Given the description of an element on the screen output the (x, y) to click on. 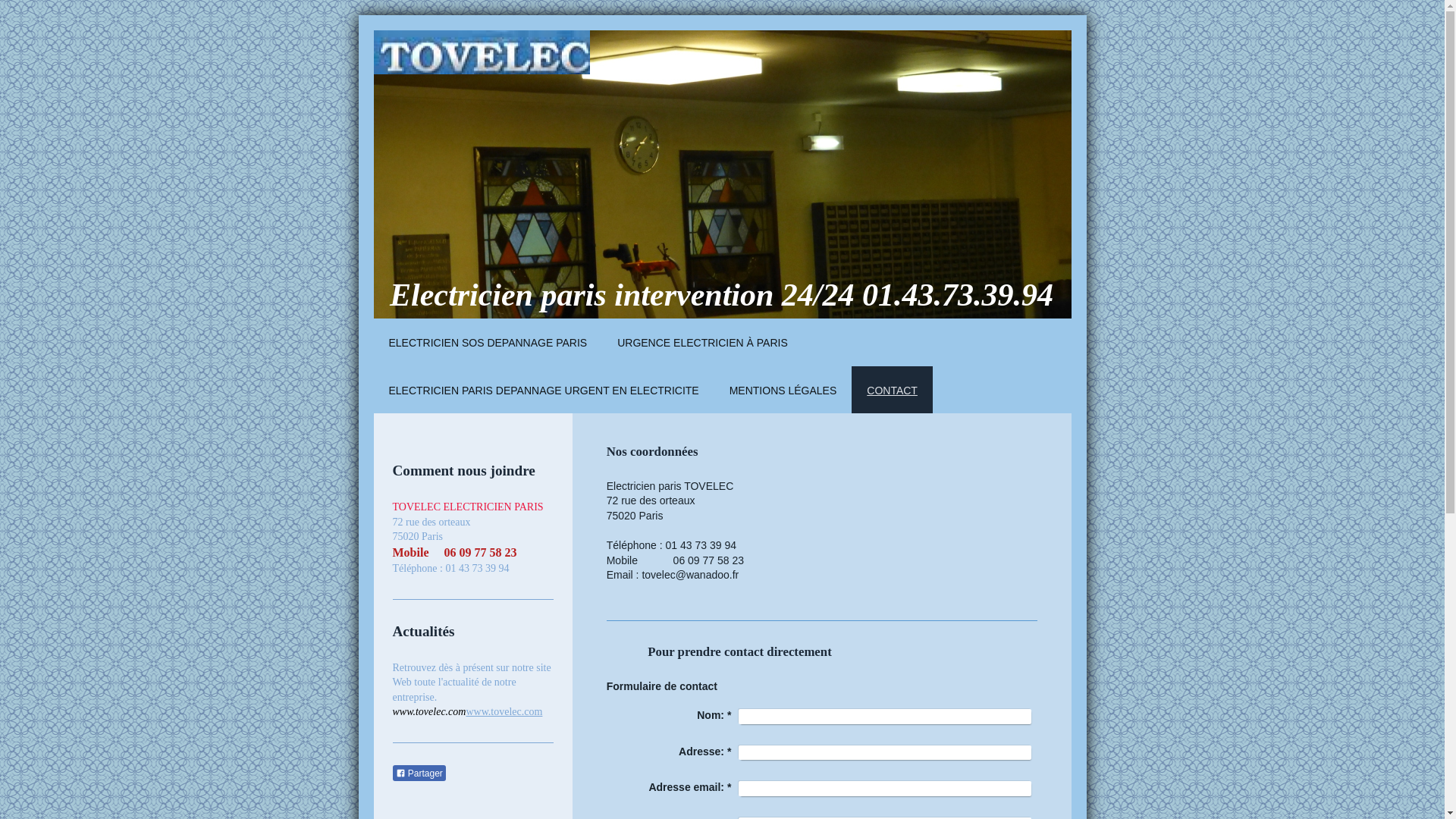
Partager Element type: text (418, 773)
www.tovelec.com Element type: text (503, 711)
CONTACT Element type: text (891, 390)
ELECTRICIEN PARIS DEPANNAGE URGENT EN ELECTRICITE Element type: text (543, 390)
ELECTRICIEN SOS DEPANNAGE PARIS Element type: text (487, 342)
